Given the description of an element on the screen output the (x, y) to click on. 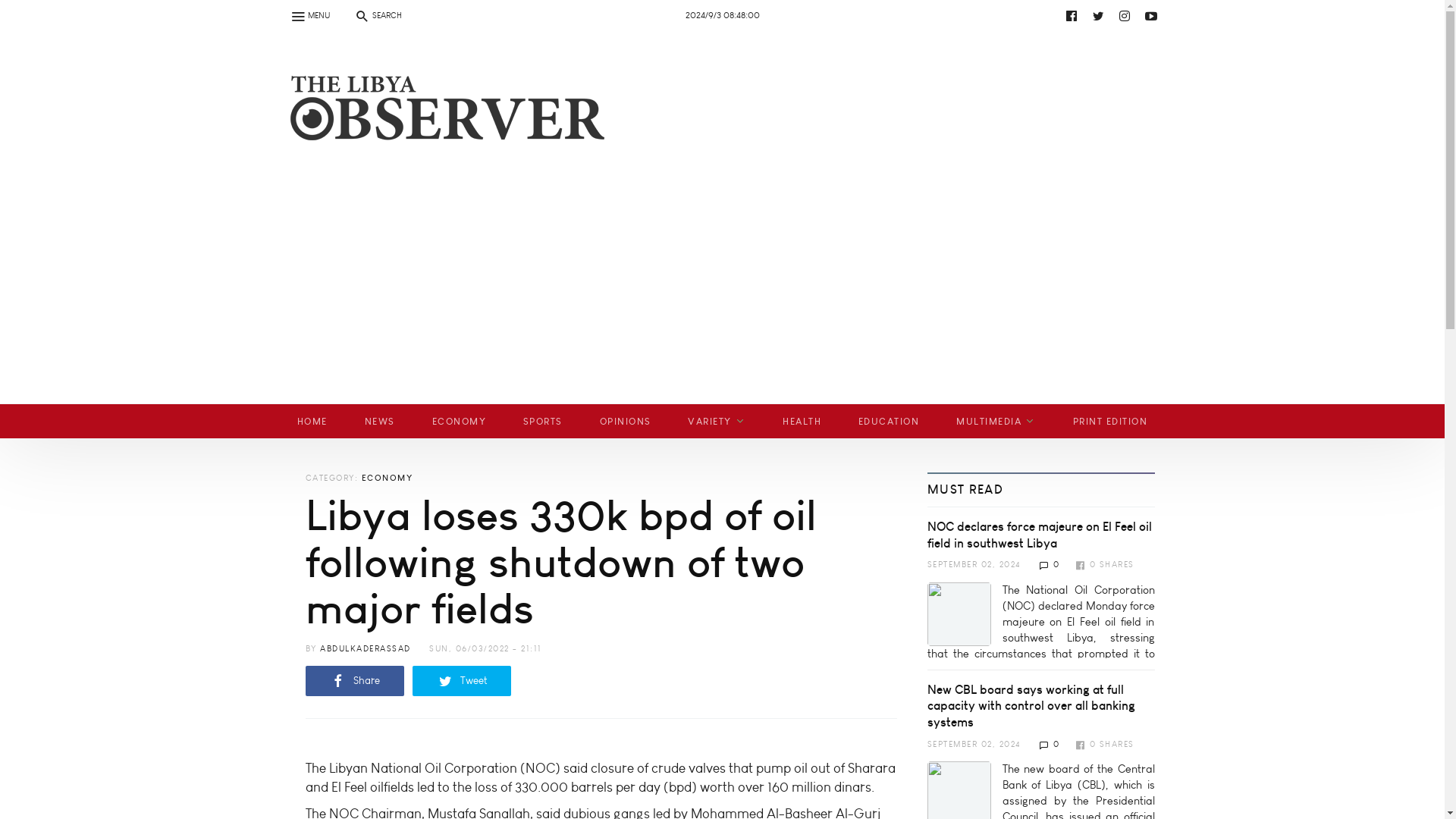
youtube (736, 14)
Facebook (1070, 14)
Home (441, 126)
Search (20, 9)
SPORTS (541, 421)
HEALTH (802, 421)
youtube (449, 52)
SEARCH (377, 15)
MENU (309, 15)
View user profile. (365, 648)
